Given the description of an element on the screen output the (x, y) to click on. 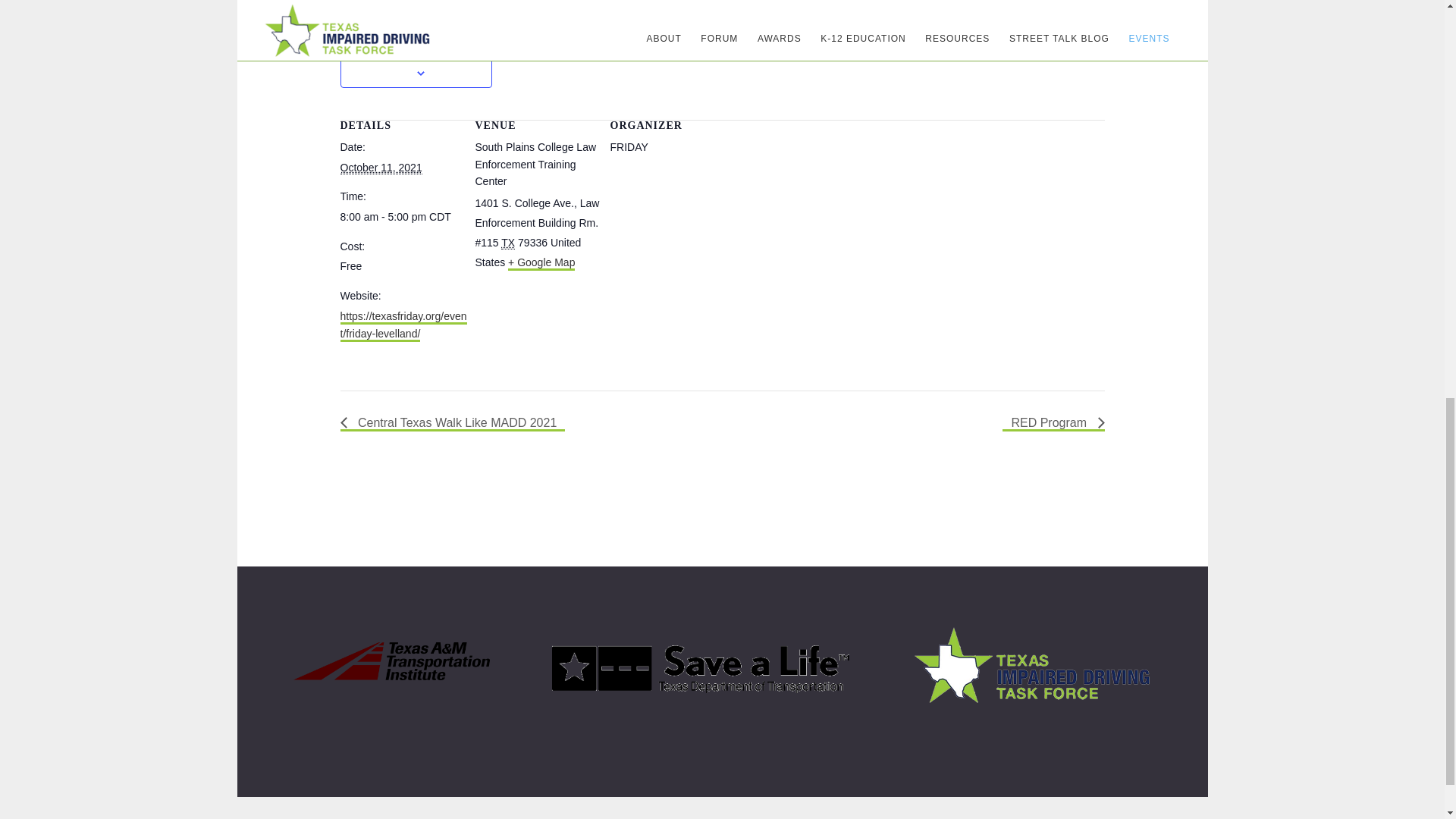
Click to view a Google Map (541, 263)
ADD TO CALENDAR (415, 55)
2021-10-11 (403, 217)
Texas (507, 242)
RED Program (1053, 423)
Central Texas Walk Like MADD 2021 (451, 423)
2021-10-11 (380, 167)
